Given the description of an element on the screen output the (x, y) to click on. 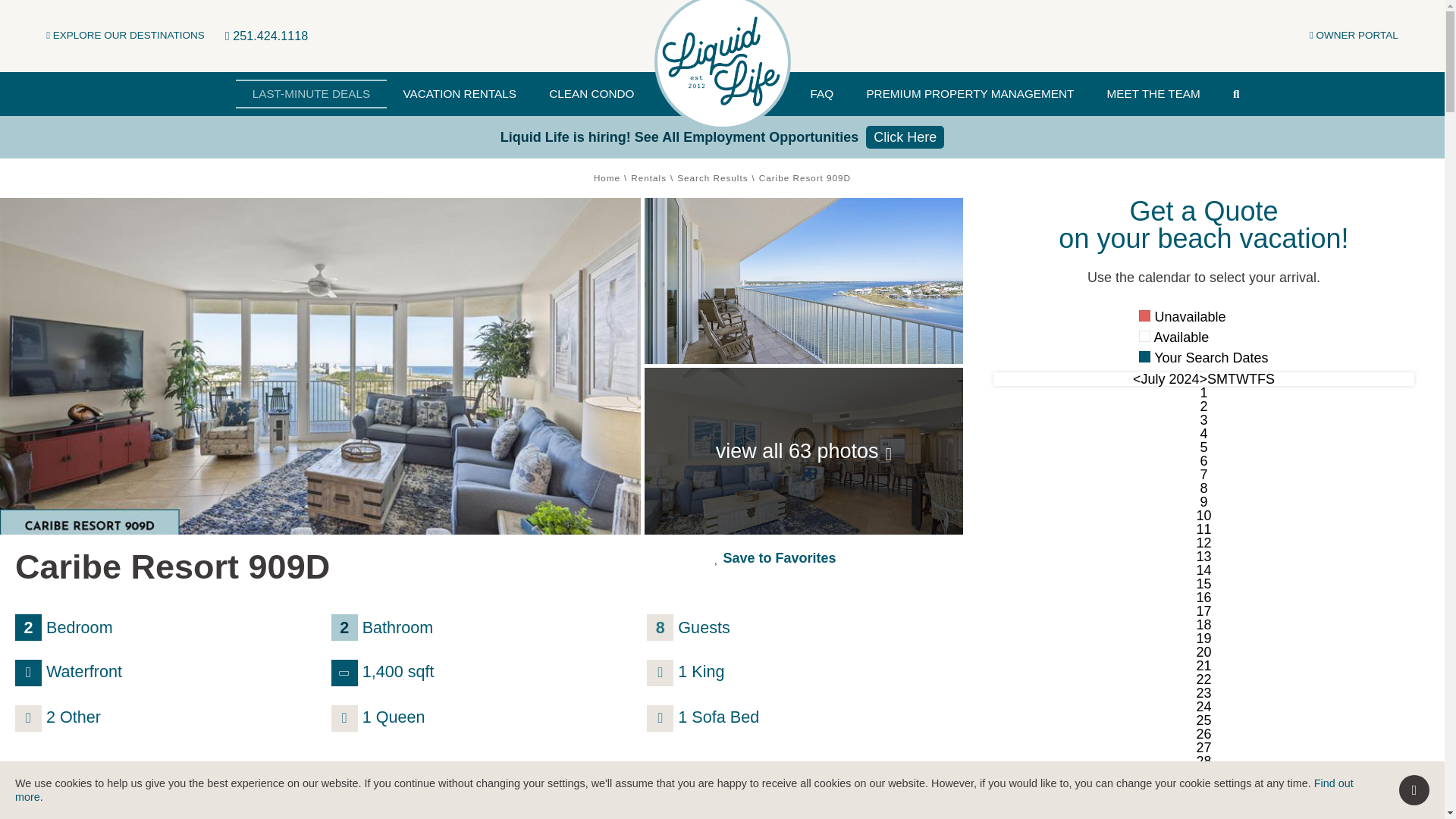
REVIEWS (684, 799)
QUESTIONS (792, 799)
Rentals (648, 177)
CLEAN CONDO (591, 93)
LAST-MINUTE DEALS (311, 93)
Liquid Life Vacation Rentals (721, 61)
Premium Property Management (970, 93)
Vacation Rentals (459, 93)
EXPLORE OUR DESTINATIONS (125, 35)
Owner Portal (1352, 35)
Last-Minute Deals (311, 93)
Search Results (712, 177)
Meet the Team (1152, 93)
PREMIUM PROPERTY MANAGEMENT (970, 93)
Click Here (904, 137)
